Given the description of an element on the screen output the (x, y) to click on. 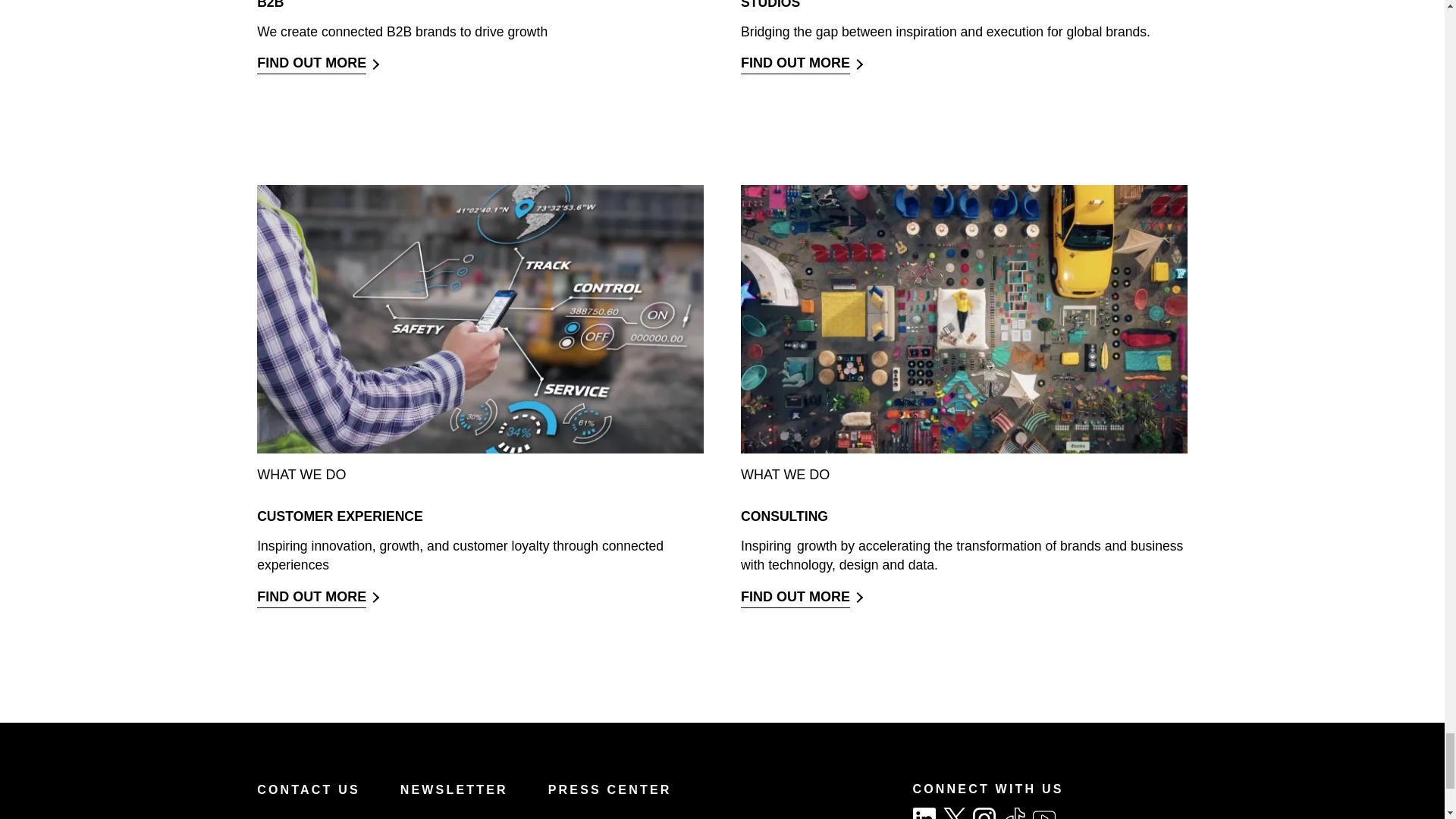
X (954, 813)
YouTube (1043, 813)
Instagram (983, 813)
TikTok (1014, 813)
LinkedIn (924, 813)
